Given the description of an element on the screen output the (x, y) to click on. 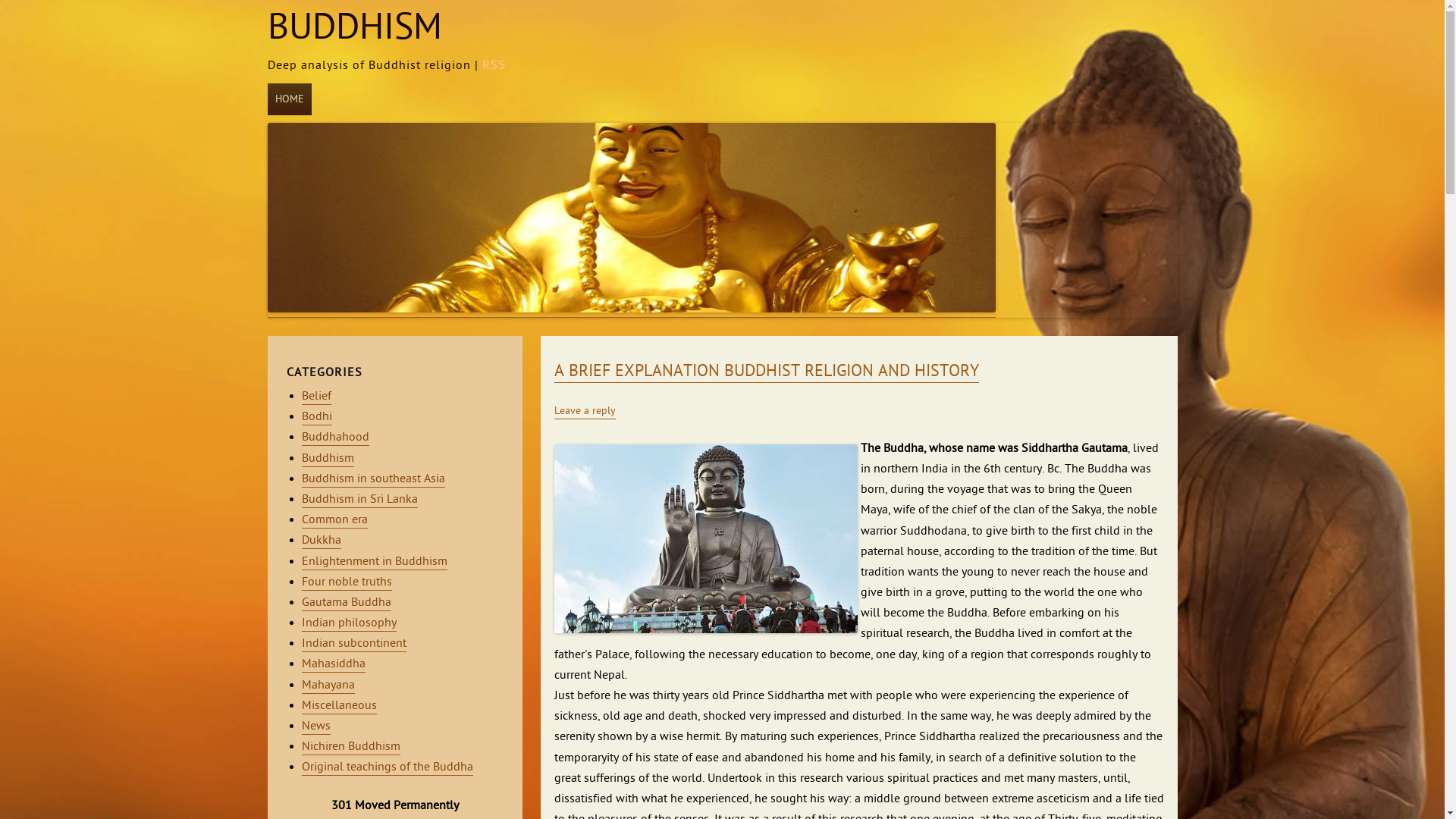
Enlightenment in Buddhism Element type: text (374, 561)
Indian philosophy Element type: text (348, 623)
A BRIEF EXPLANATION BUDDHIST RELIGION AND HISTORY Element type: text (765, 371)
Buddhahood Element type: text (335, 437)
Indian subcontinent Element type: text (353, 644)
BUDDHISM Element type: text (353, 28)
News Element type: text (315, 726)
Four noble truths Element type: text (346, 582)
Gautama Buddha Element type: text (346, 603)
Belief Element type: text (316, 396)
Buddhism Element type: text (327, 459)
Original teachings of the Buddha Element type: text (387, 767)
Buddhism in Sri Lanka Element type: text (359, 500)
Common era Element type: text (334, 520)
HOME Element type: text (288, 99)
Skip to content Element type: text (318, 85)
RSS Element type: text (493, 65)
Miscellaneous Element type: text (338, 706)
Leave a reply Element type: text (584, 411)
Mahayana Element type: text (327, 685)
Mahasiddha Element type: text (333, 664)
Dukkha Element type: text (321, 541)
Nichiren Buddhism Element type: text (350, 747)
Buddhism in southeast Asia Element type: text (373, 479)
Bodhi Element type: text (316, 417)
